Given the description of an element on the screen output the (x, y) to click on. 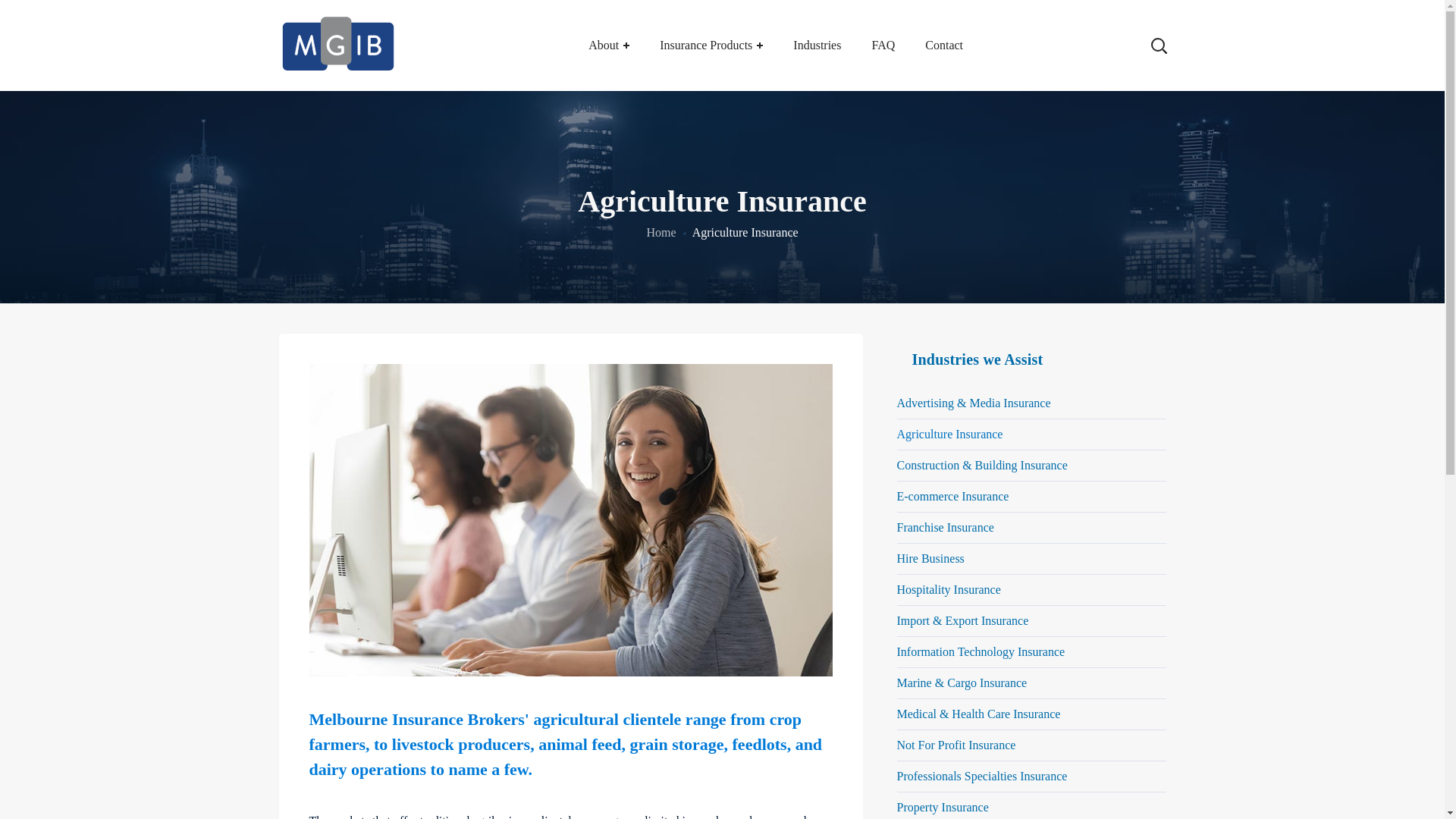
Contact Element type: text (944, 45)
Agriculture Insurance Element type: text (1030, 434)
Insurance Products Element type: text (711, 45)
Industries Element type: text (817, 45)
About Element type: text (608, 45)
Construction & Building Insurance Element type: text (1030, 465)
E-commerce Insurance Element type: text (1030, 496)
sample-06 Element type: hover (570, 520)
Hospitality Insurance Element type: text (1030, 589)
Medical & Health Care Insurance Element type: text (1030, 714)
Professionals Specialties Insurance Element type: text (1030, 776)
Import & Export Insurance Element type: text (1030, 621)
Advertising & Media Insurance Element type: text (1030, 403)
Home Element type: text (660, 231)
Hire Business Element type: text (1030, 558)
Not For Profit Insurance Element type: text (1030, 745)
Search Element type: text (1110, 30)
Search Element type: text (1110, 121)
FAQ Element type: text (883, 45)
Franchise Insurance Element type: text (1030, 527)
Information Technology Insurance Element type: text (1030, 652)
Marine & Cargo Insurance Element type: text (1030, 683)
